Given the description of an element on the screen output the (x, y) to click on. 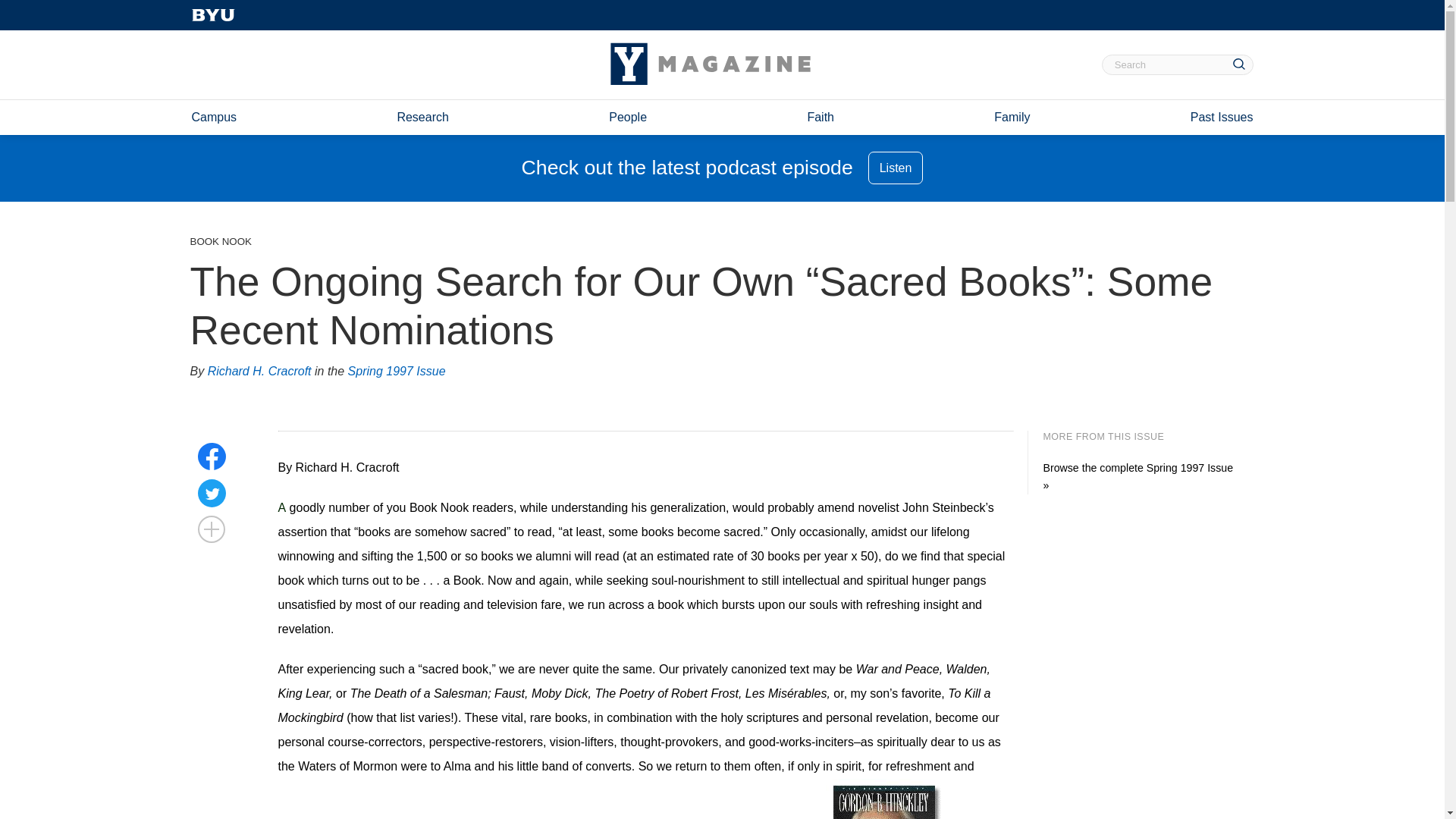
Family (1011, 117)
Past Issues (1222, 117)
Spring 1997 Issue (396, 371)
Richard H. Cracroft (259, 371)
Research (422, 117)
Campus (212, 117)
BOOK NOOK (219, 241)
People (627, 117)
Check out the latest podcast episode (687, 167)
Listen (895, 168)
